Given the description of an element on the screen output the (x, y) to click on. 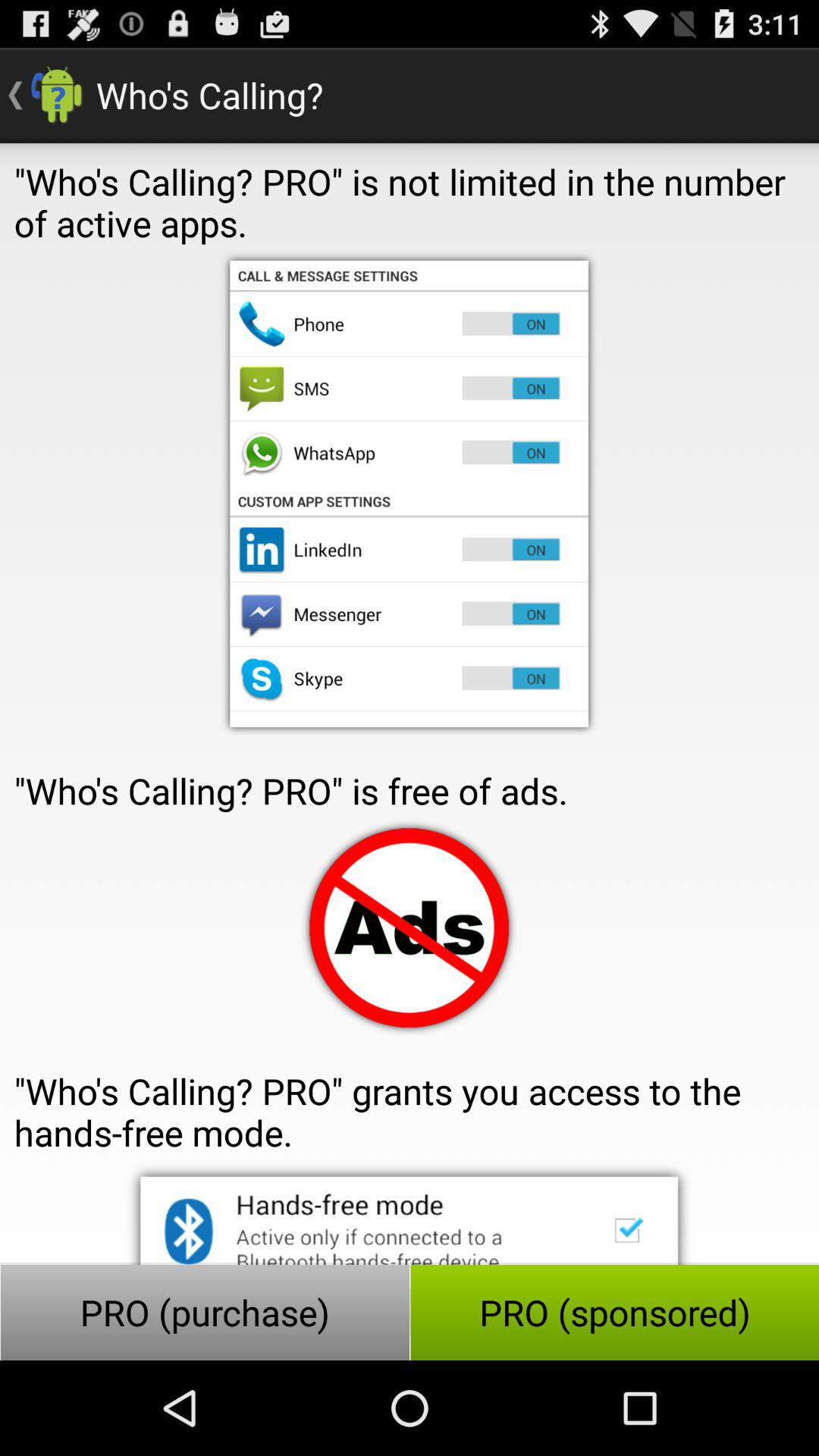
turn on icon to the right of the pro (purchase) button (614, 1312)
